Given the description of an element on the screen output the (x, y) to click on. 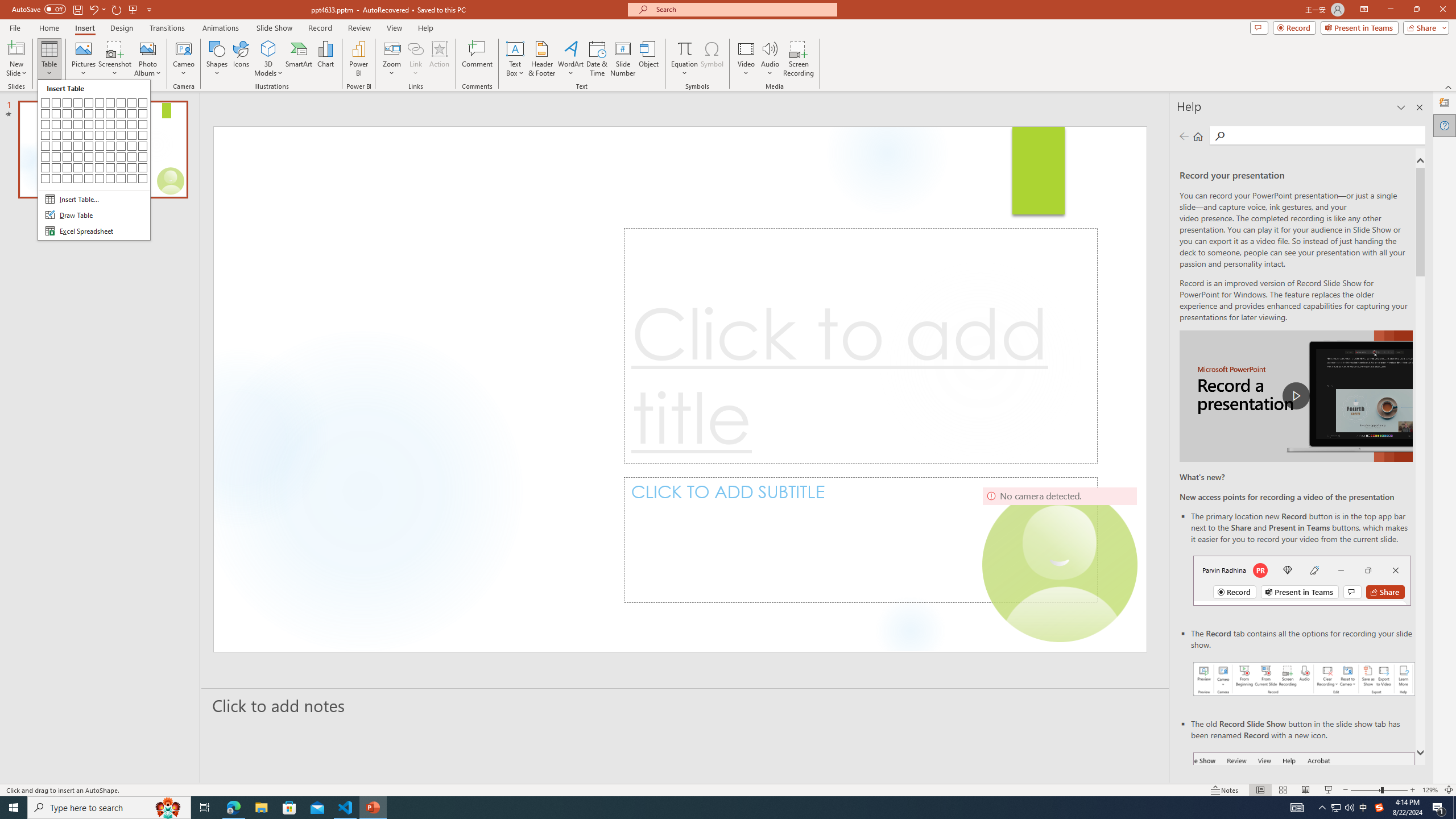
Date & Time... (596, 58)
Record your presentations screenshot one (1304, 678)
Power BI (358, 58)
